Given the description of an element on the screen output the (x, y) to click on. 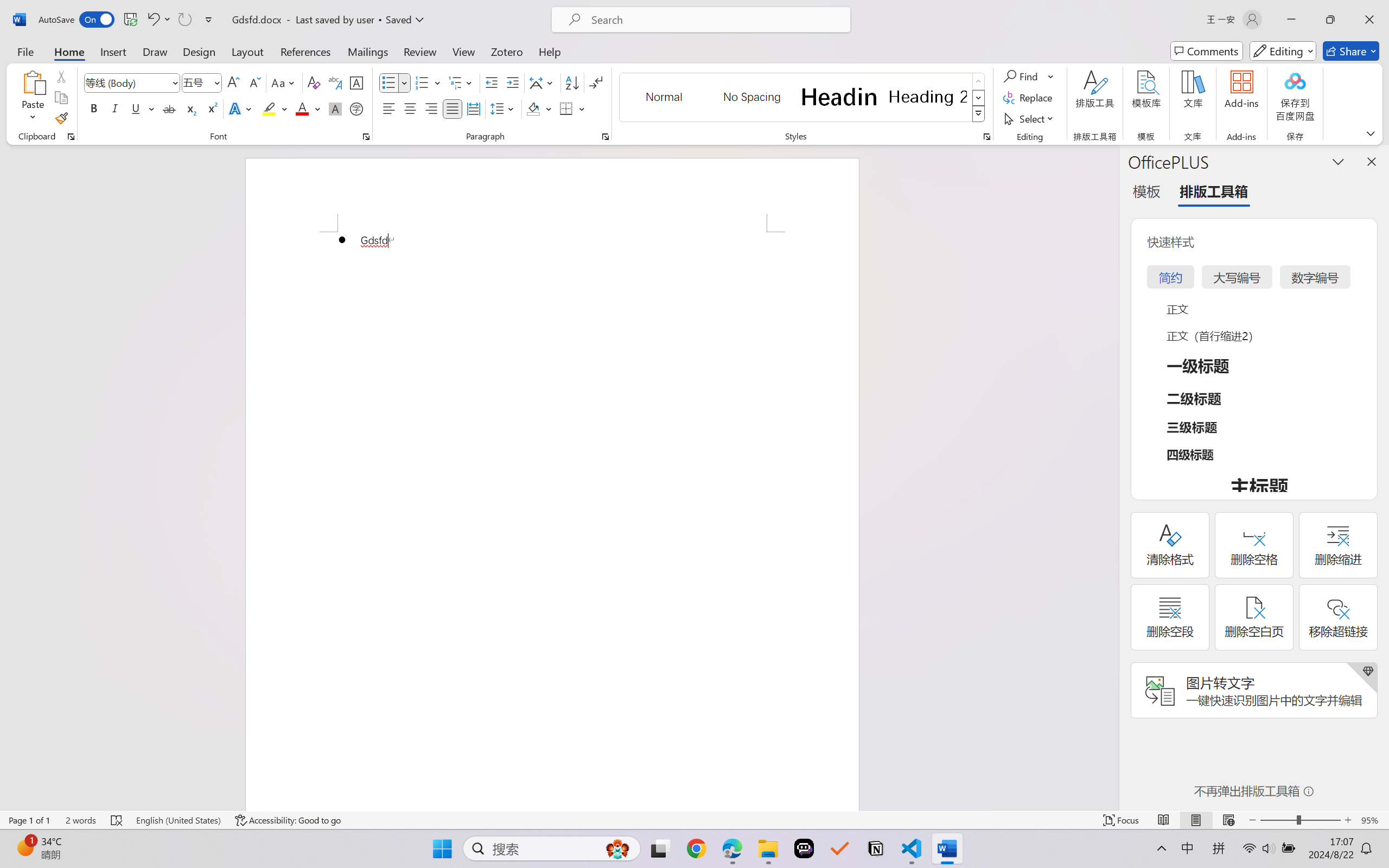
Undo Bullet Default (152, 19)
